Given the description of an element on the screen output the (x, y) to click on. 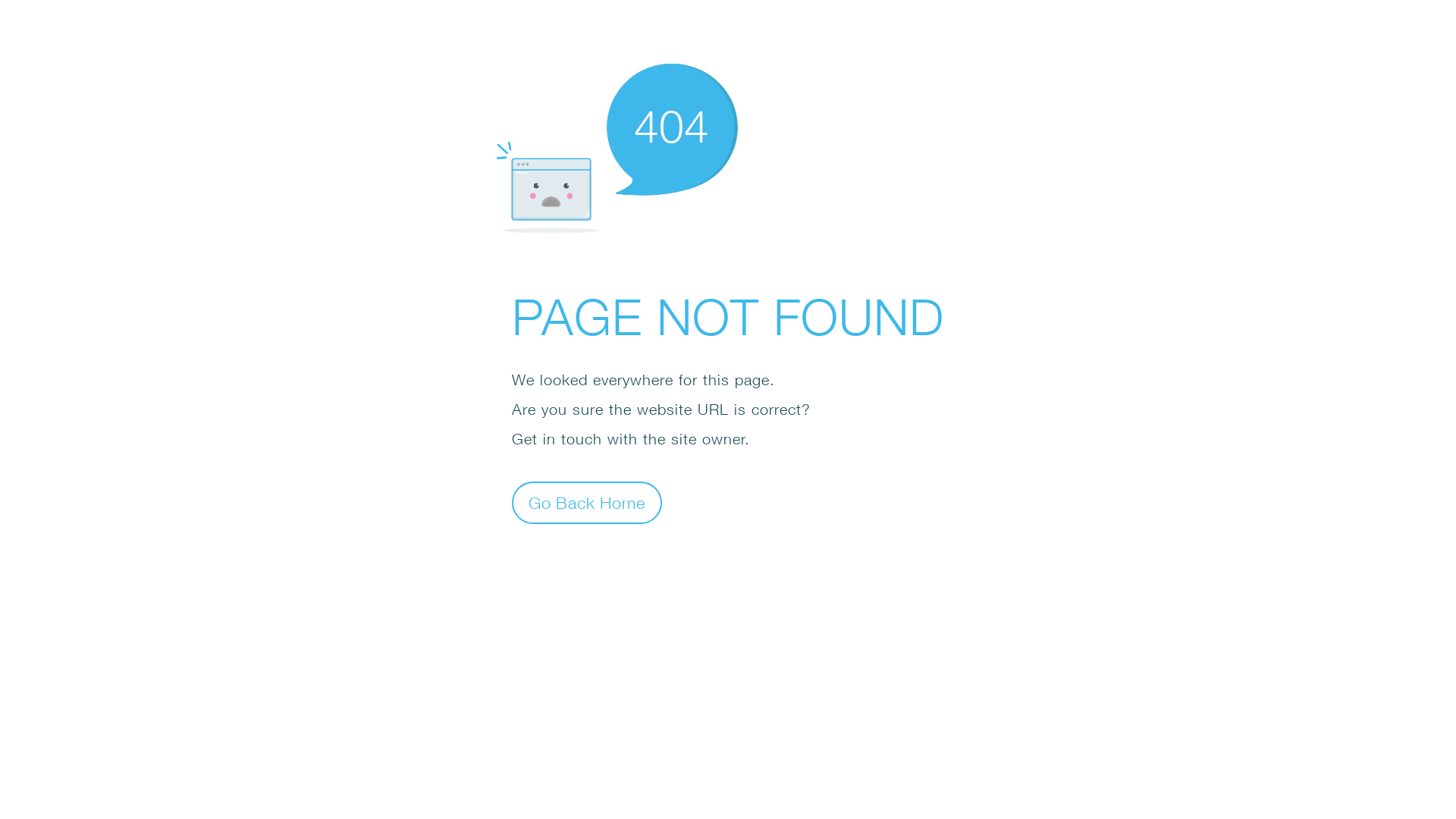
Go Back Home Element type: text (586, 502)
